Given the description of an element on the screen output the (x, y) to click on. 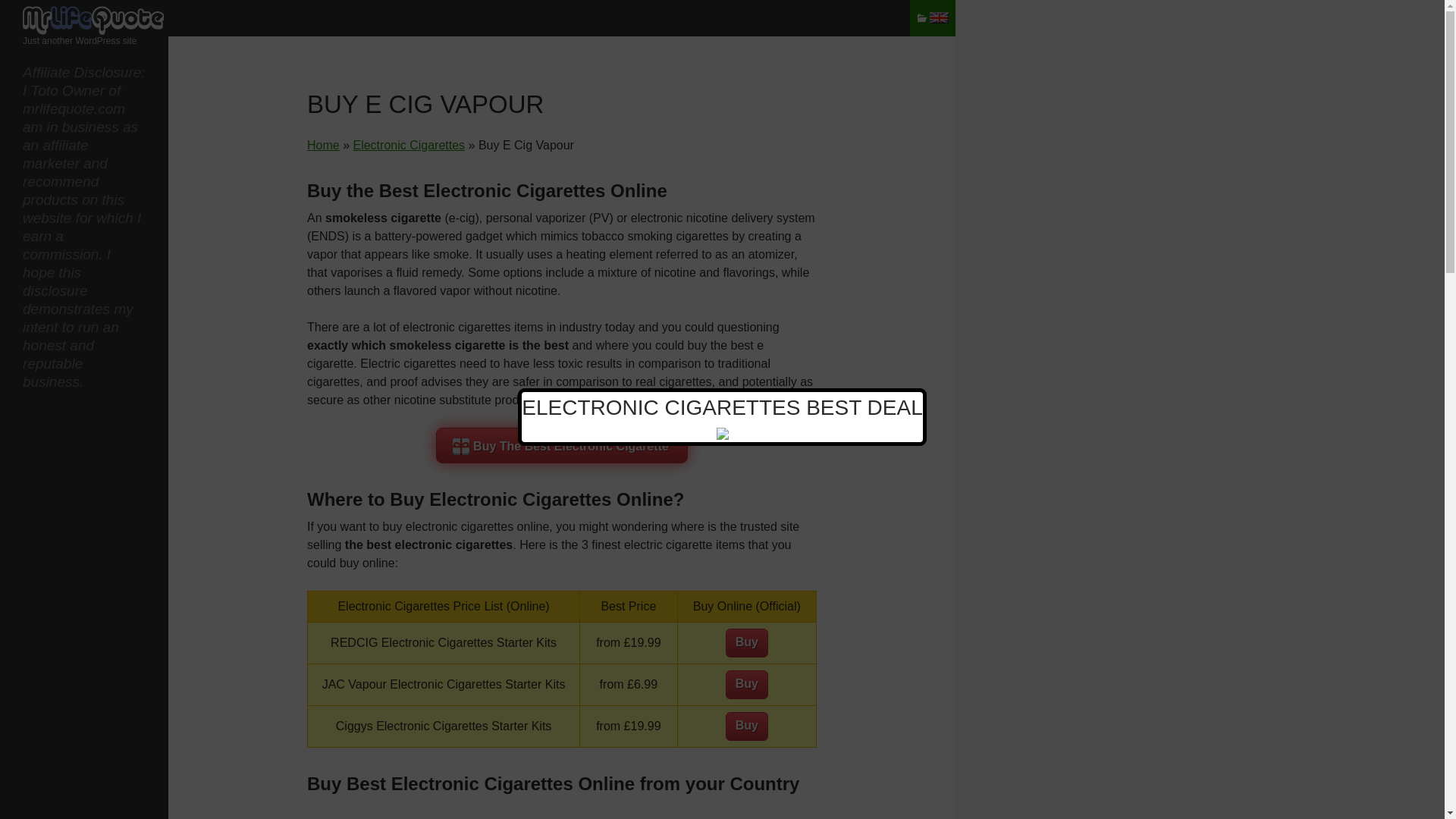
CLOSE (908, 399)
Buy Electronic Cigarettes Online  (408, 144)
Electronic Cigarettes (408, 144)
Home (323, 144)
